Given the description of an element on the screen output the (x, y) to click on. 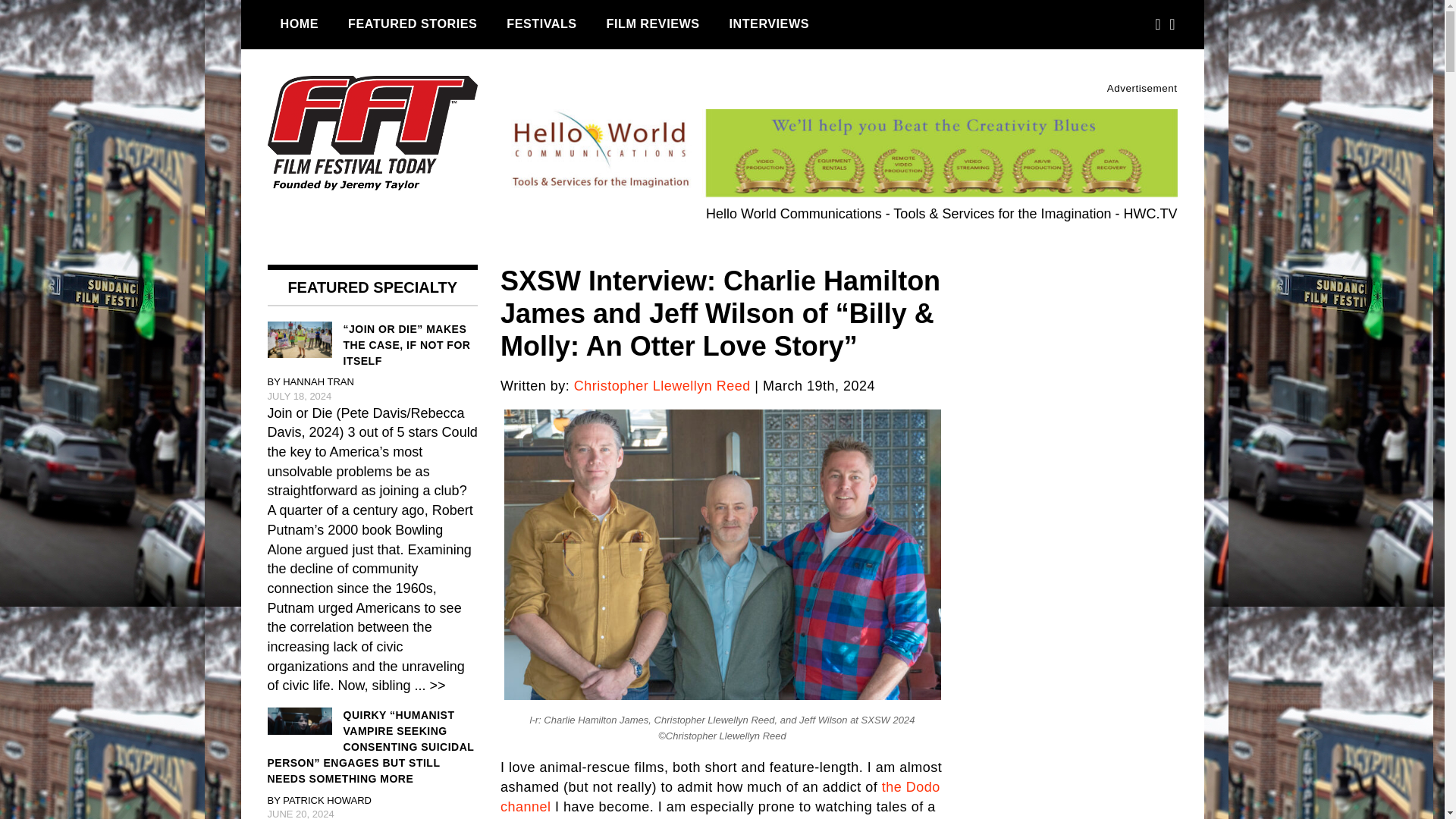
FESTIVALS (541, 23)
INTERVIEWS (769, 23)
FILM REVIEWS (653, 23)
HOME (298, 23)
the Dodo channel (720, 796)
Film Festival Today (352, 234)
FEATURED STORIES (411, 23)
Christopher Llewellyn Reed (662, 385)
